Given the description of an element on the screen output the (x, y) to click on. 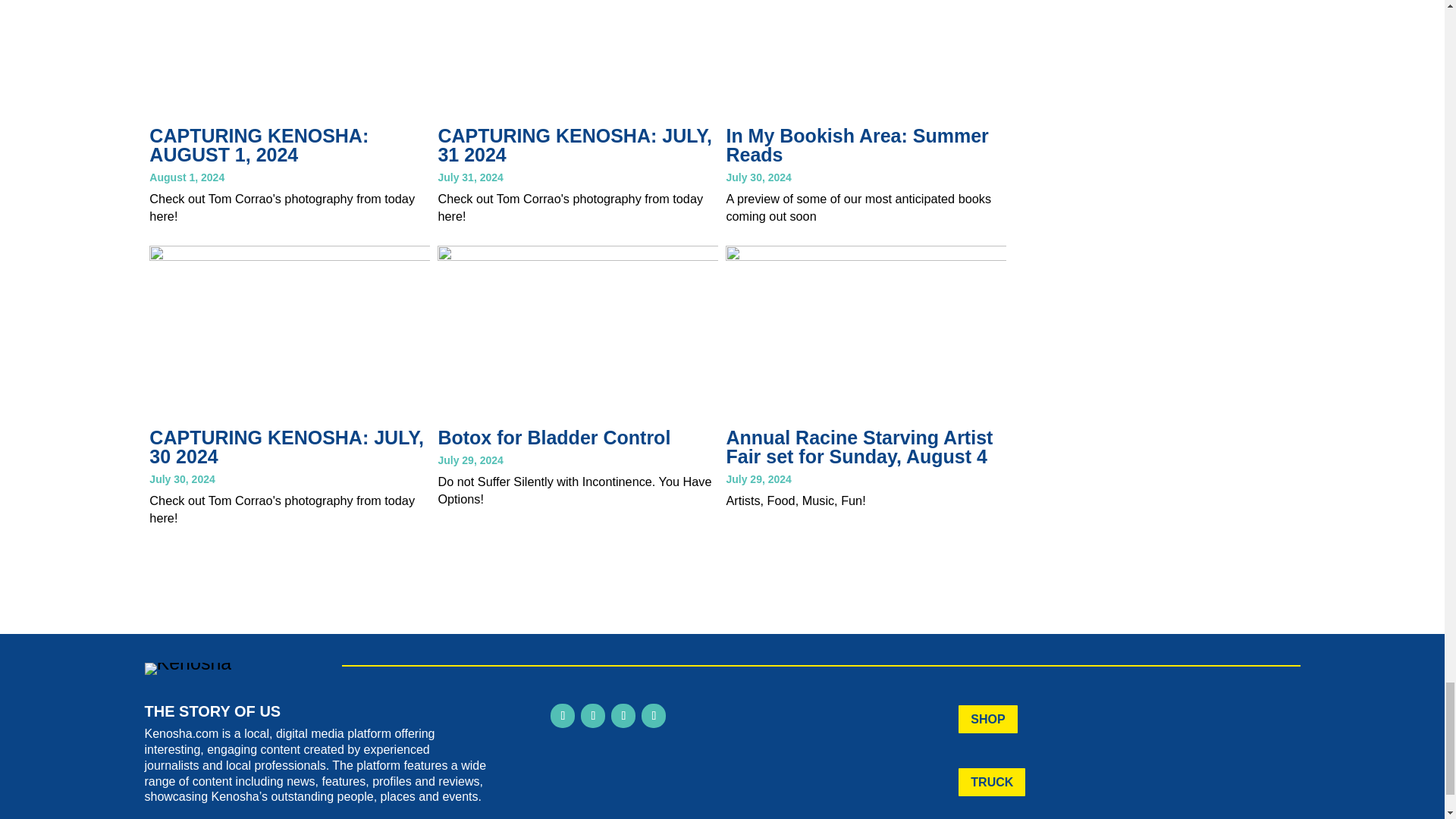
Follow on Instagram (592, 715)
Follow on Facebook (562, 715)
Follow on LinkedIn (622, 715)
footer-logo (187, 668)
